Given the description of an element on the screen output the (x, y) to click on. 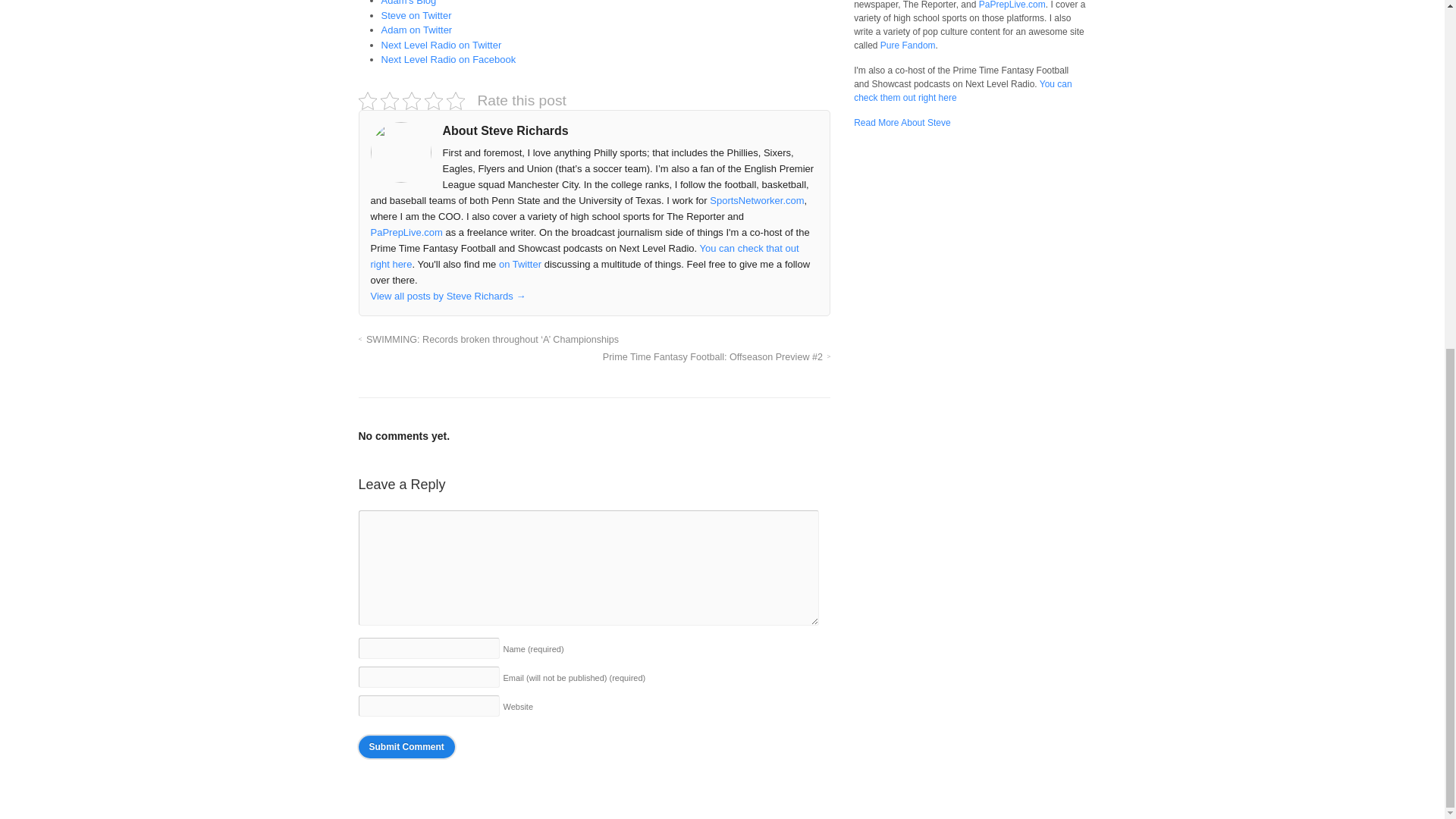
Steve on Twitter (415, 15)
Next Level Radio on Facebook (447, 59)
Submit Comment (406, 746)
Next Level Radio on Twitter (440, 44)
PaPrepLive.com (1011, 4)
PaPrepLive.com (405, 232)
You can check that out right here (583, 256)
SportsNetworker.com (756, 200)
Submit Comment (406, 746)
Adam on Twitter (415, 30)
on Twitter (520, 264)
